Given the description of an element on the screen output the (x, y) to click on. 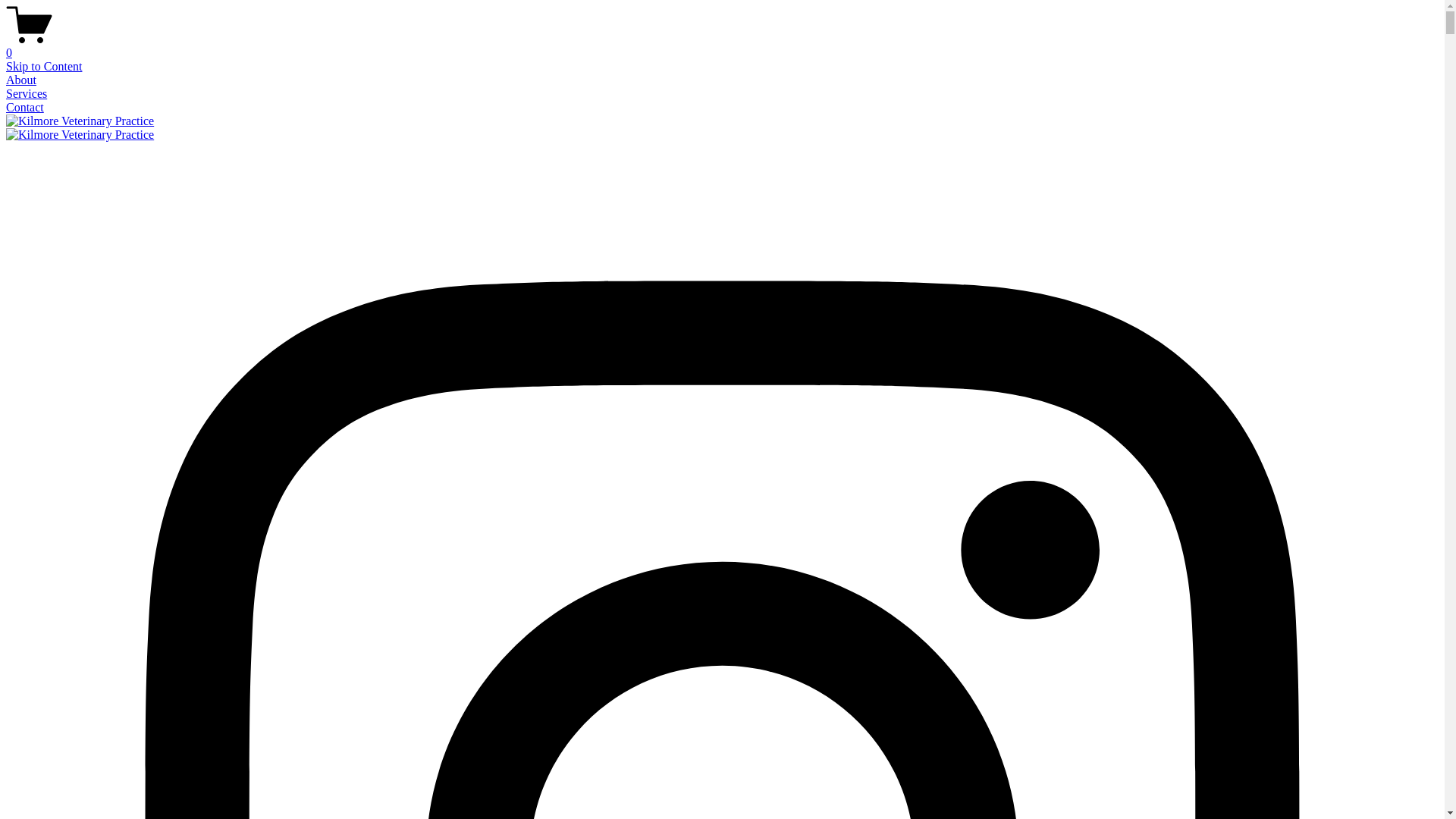
0 Element type: text (722, 45)
Skip to Content Element type: text (43, 65)
Services Element type: text (26, 93)
About Element type: text (21, 79)
Contact Element type: text (24, 106)
